Given the description of an element on the screen output the (x, y) to click on. 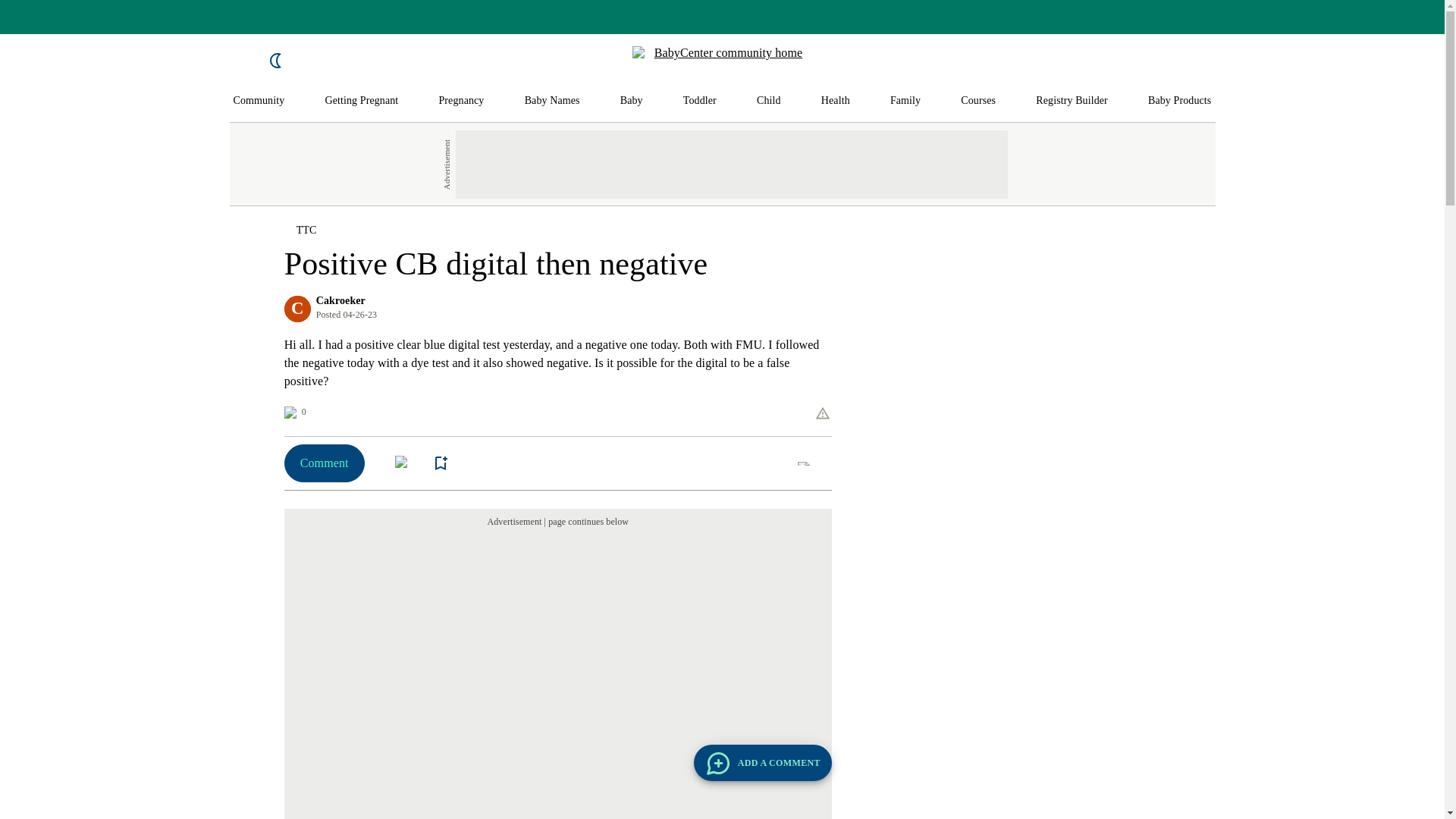
Courses (977, 101)
Baby Products (1179, 101)
Baby Names (551, 101)
Family (904, 101)
Getting Pregnant (360, 101)
Community (258, 101)
Registry Builder (1071, 101)
Child (768, 101)
Pregnancy (460, 101)
Baby (631, 101)
Health (835, 101)
Toddler (699, 101)
